Given the description of an element on the screen output the (x, y) to click on. 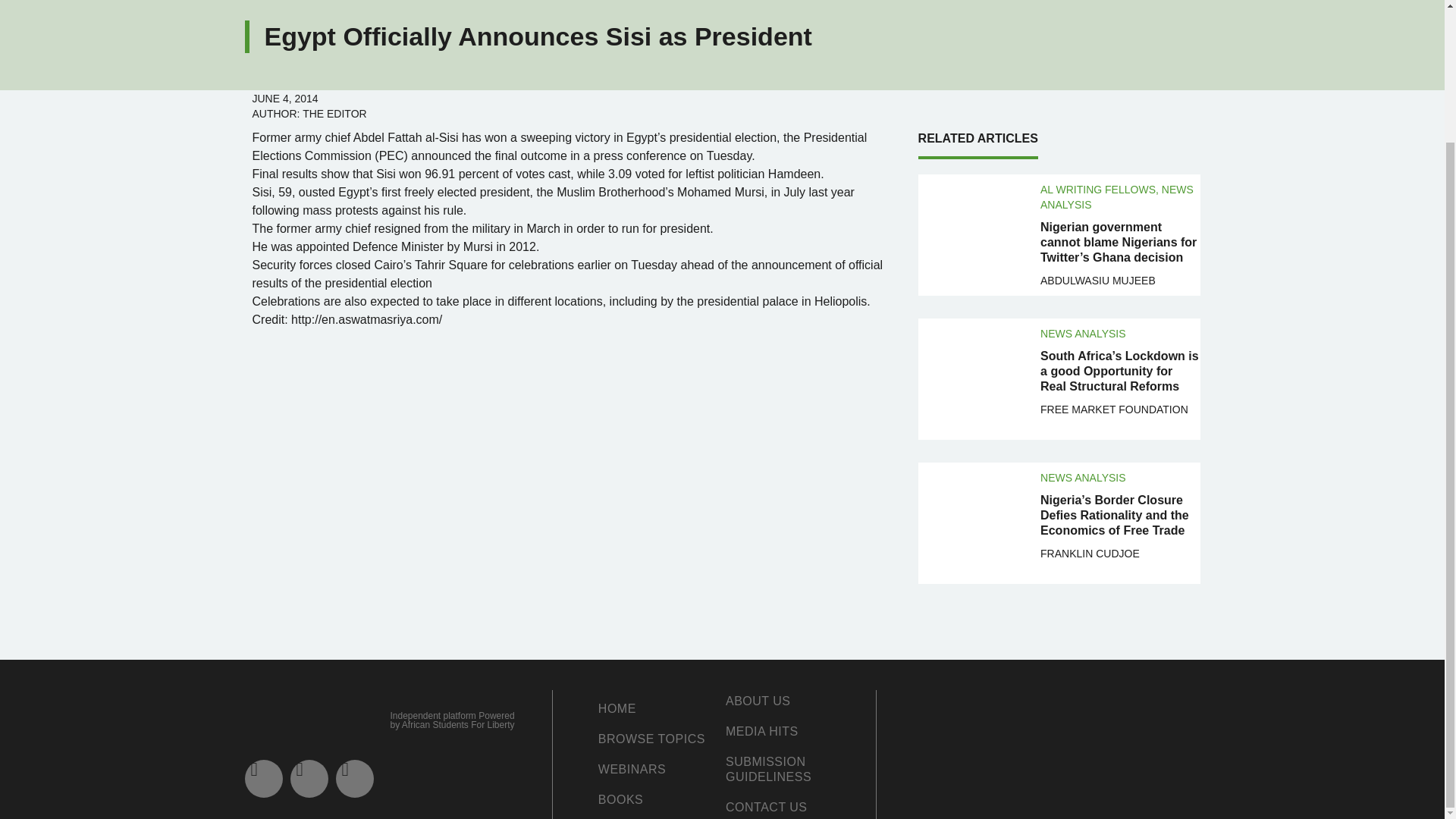
AUTHOR: THE EDITOR (308, 112)
JUNE 4, 2014 (284, 97)
AL WRITING FELLOWS (1098, 188)
